Given the description of an element on the screen output the (x, y) to click on. 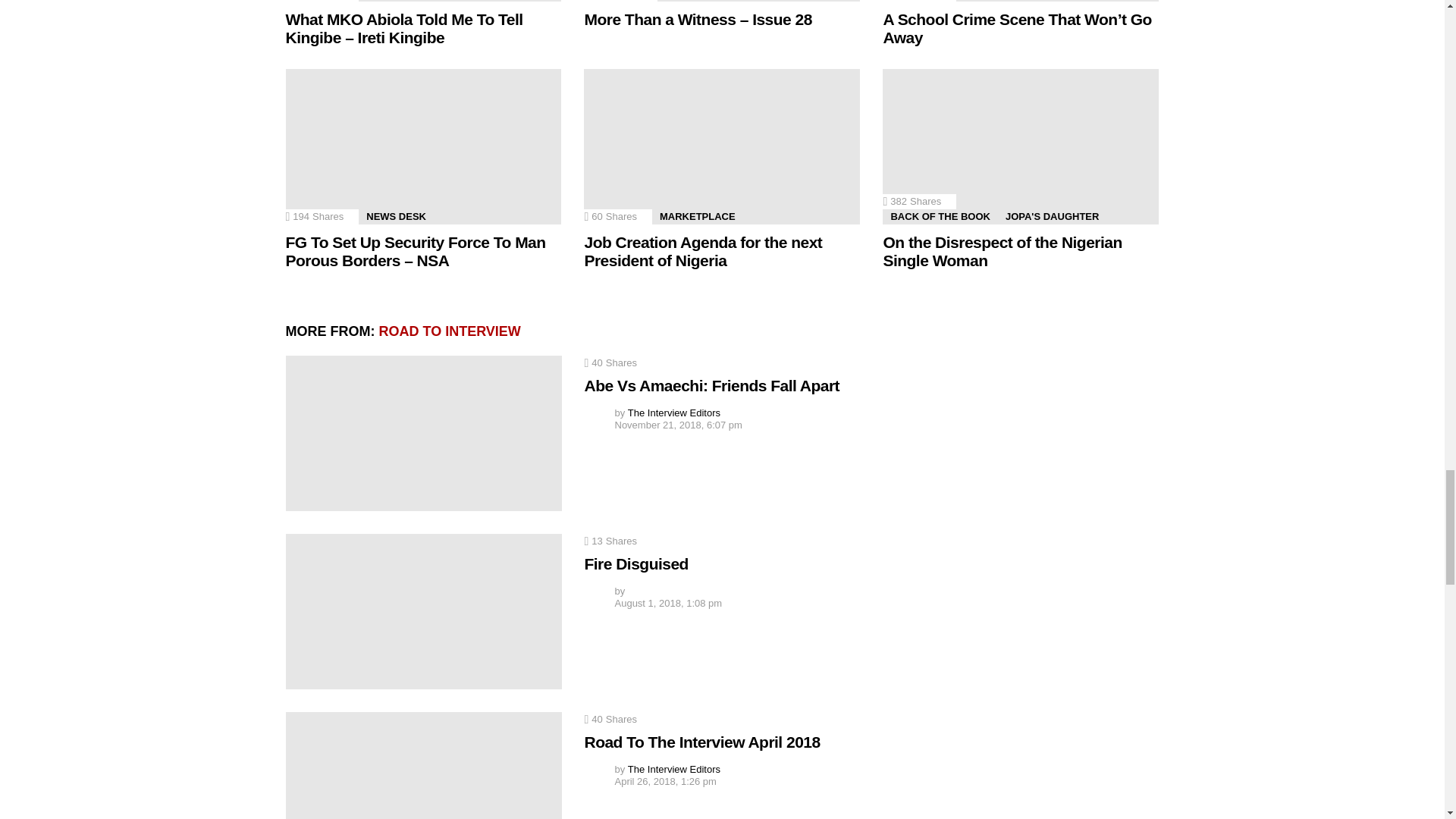
Posts by The Interview Editors (673, 768)
On the Disrespect of the Nigerian Single Woman (1020, 146)
Posts by The Interview Editors (673, 412)
Job Creation Agenda for the next President of Nigeria (721, 146)
Road To The Interview April 2018 (422, 765)
Fire Disguised (422, 611)
Abe Vs Amaechi: Friends Fall Apart (422, 433)
